Given the description of an element on the screen output the (x, y) to click on. 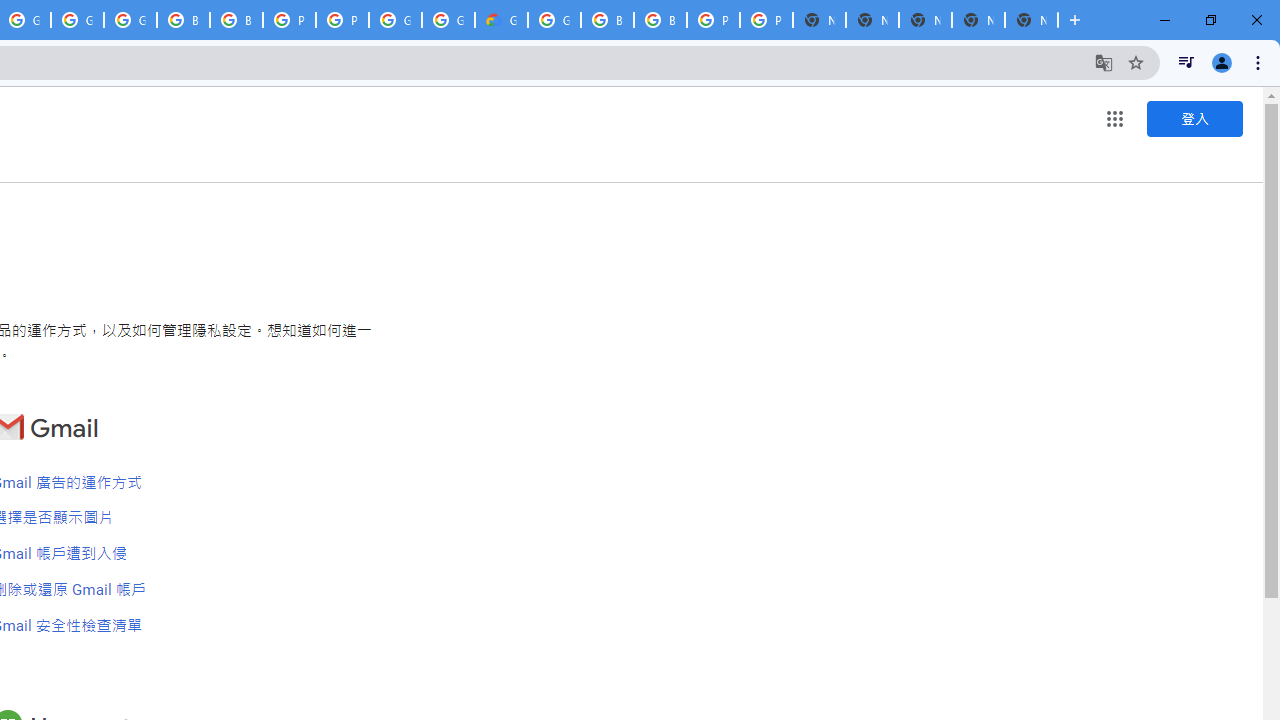
Google Cloud Estimate Summary (501, 20)
Translate this page (1103, 62)
Browse Chrome as a guest - Computer - Google Chrome Help (607, 20)
Google Cloud Platform (554, 20)
